Given the description of an element on the screen output the (x, y) to click on. 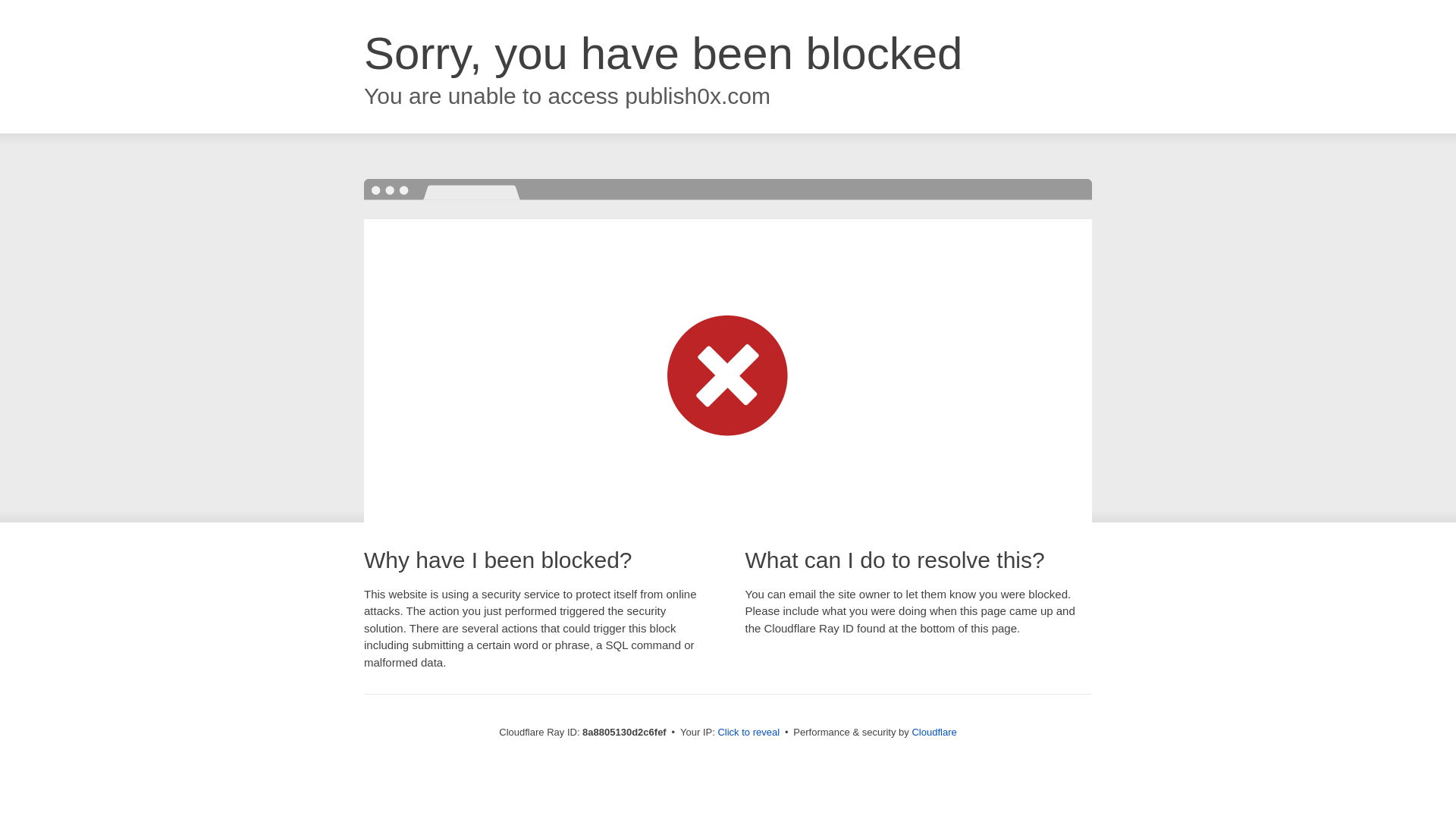
Click to reveal (747, 732)
Cloudflare (933, 731)
